Given the description of an element on the screen output the (x, y) to click on. 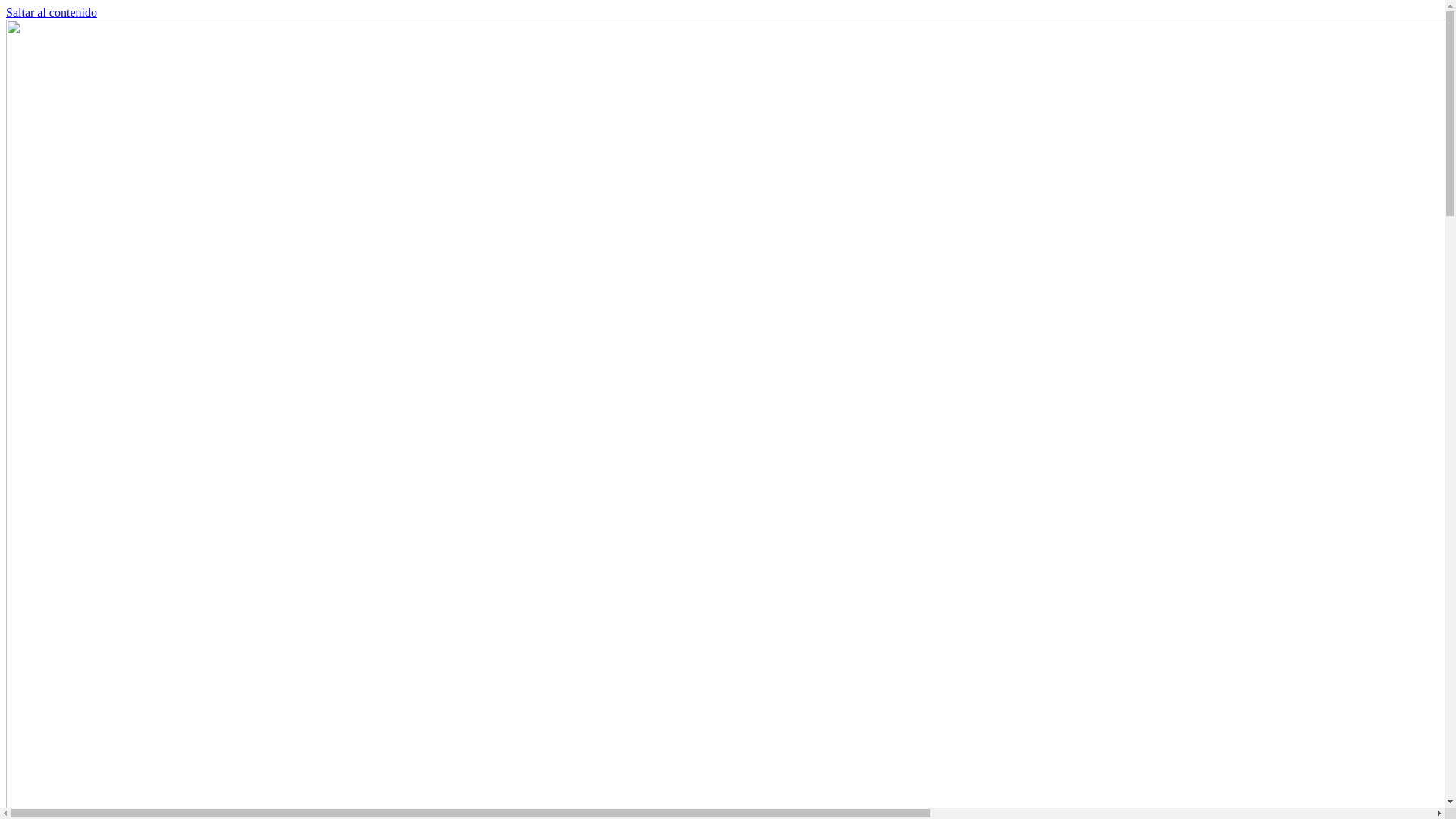
Saltar al contenido Element type: text (51, 12)
